Given the description of an element on the screen output the (x, y) to click on. 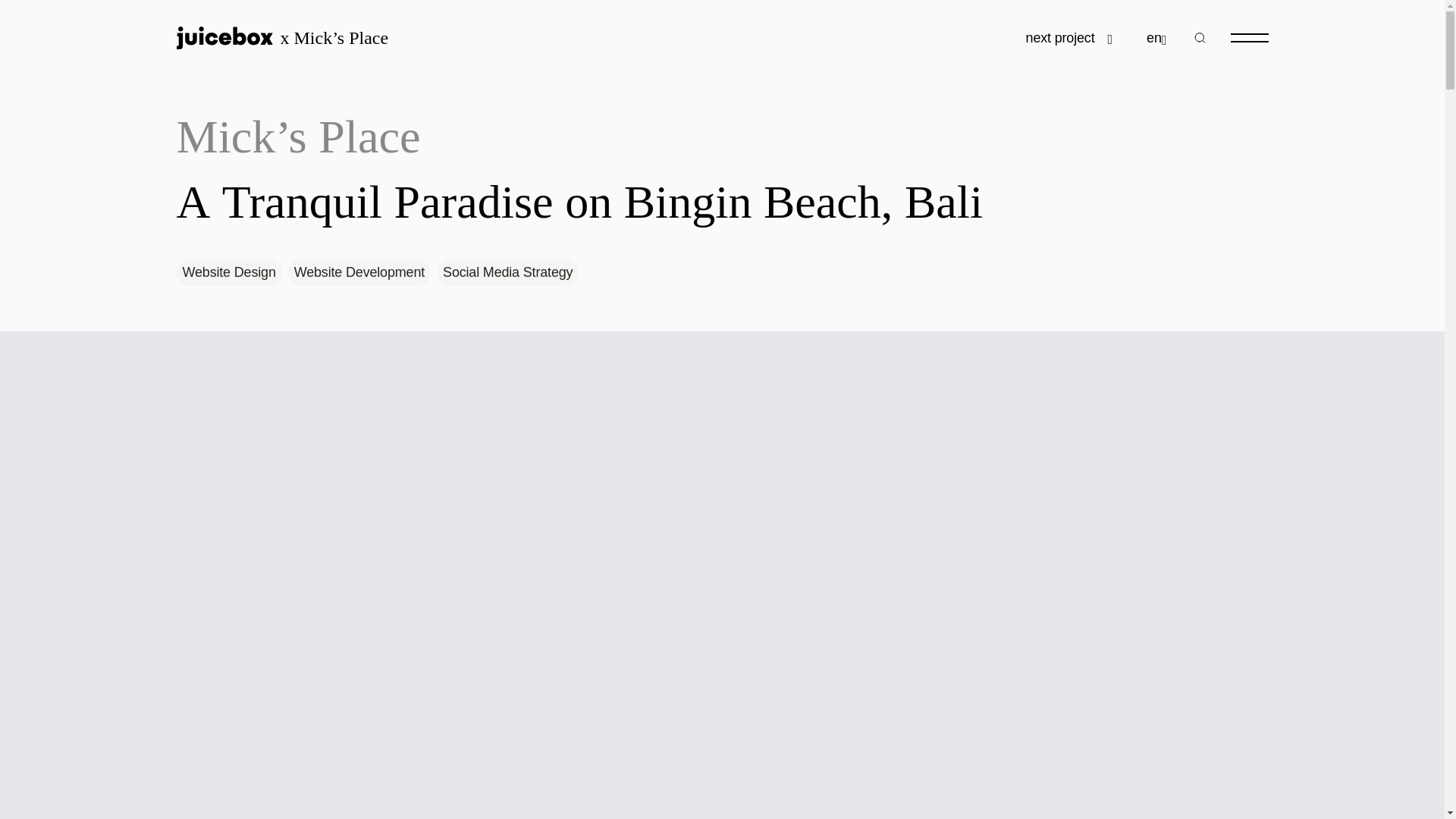
next project (1069, 37)
en (1157, 38)
